Given the description of an element on the screen output the (x, y) to click on. 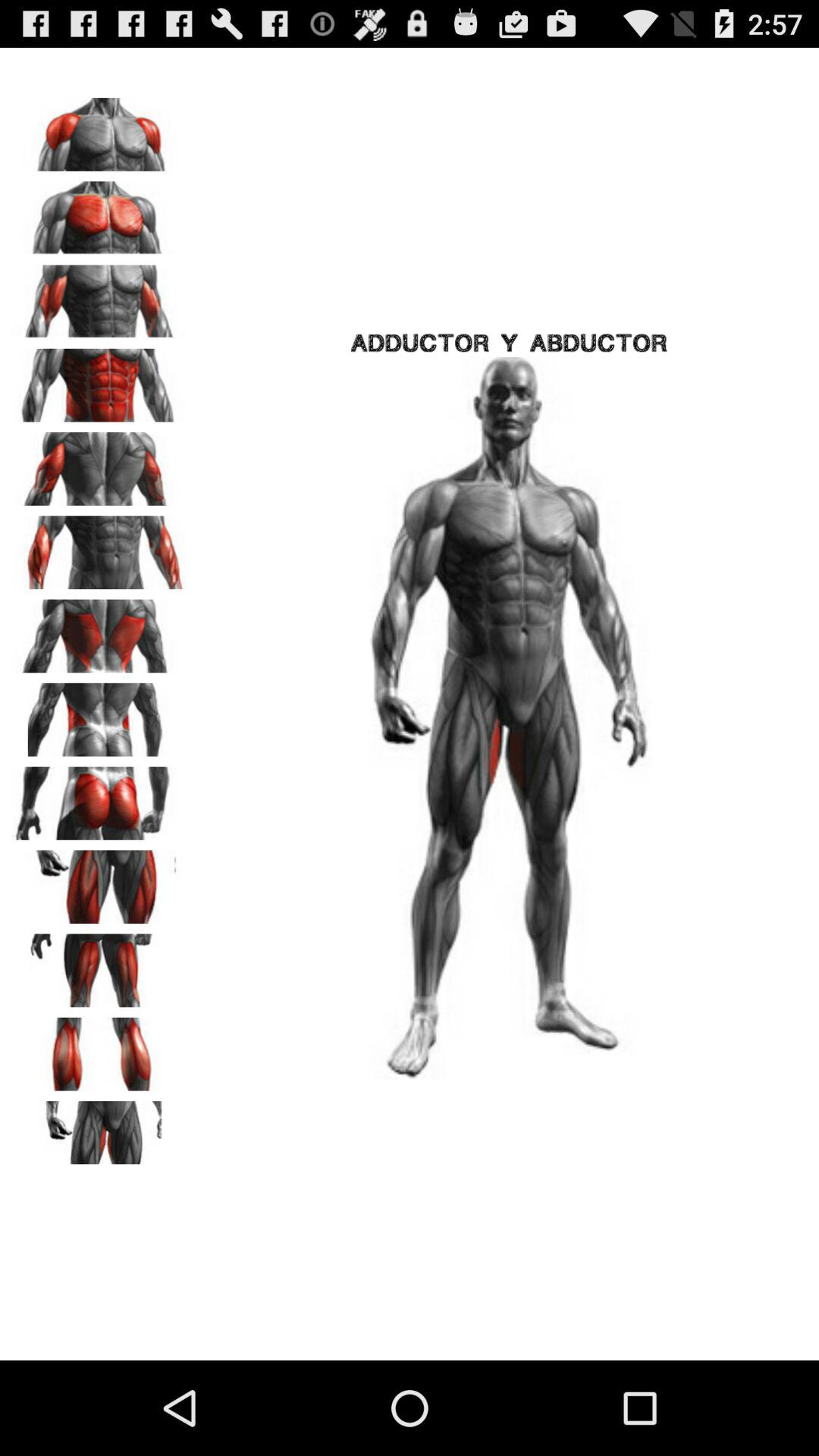
view forearms (99, 547)
